Given the description of an element on the screen output the (x, y) to click on. 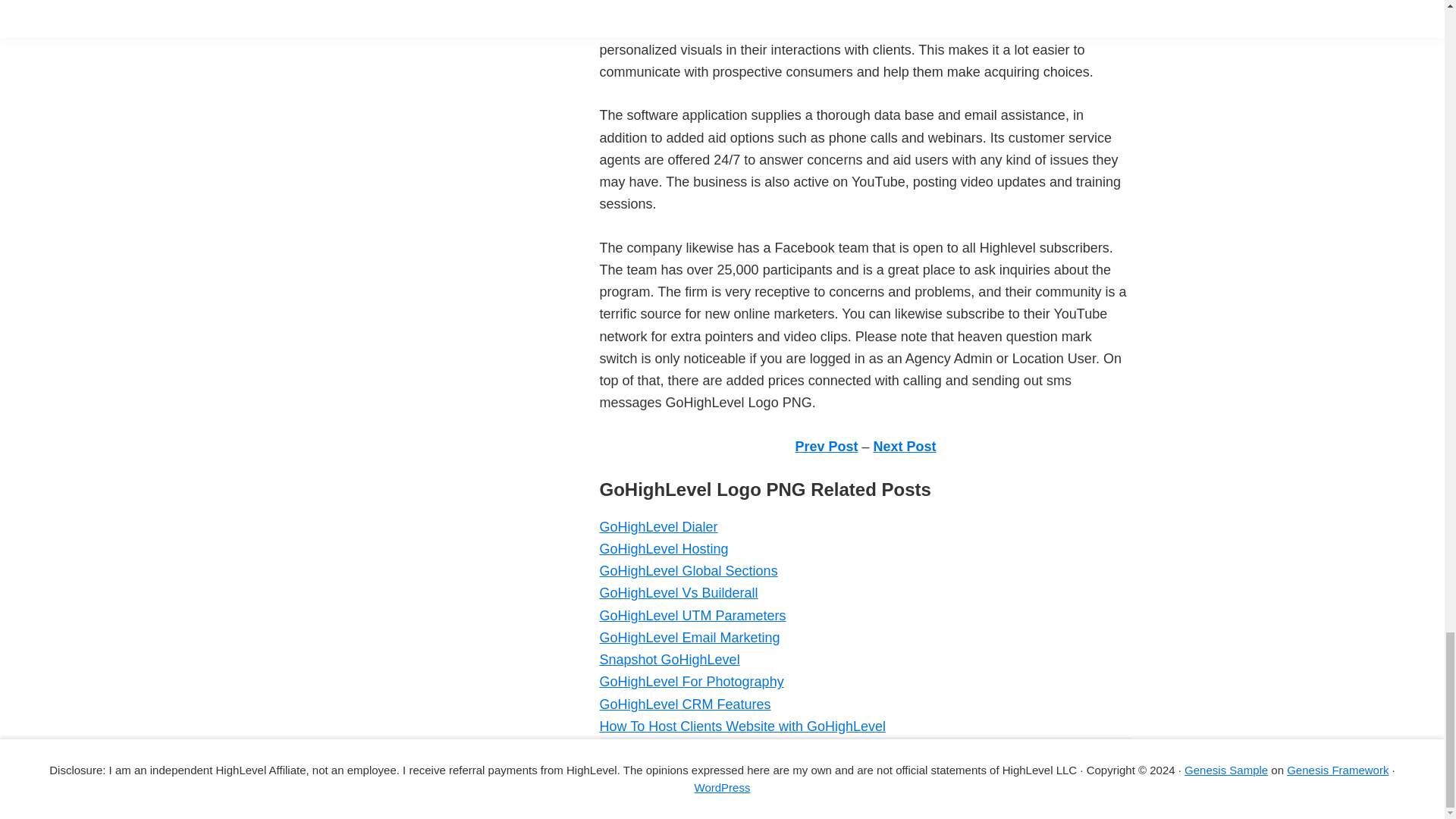
Prev Post (825, 446)
GoHighLevel Email Marketing (688, 637)
How To Host Clients Website with GoHighLevel (741, 726)
GoHighLevel Email Marketing (688, 637)
GoHighLevel UTM Parameters (692, 615)
Snapshot GoHighLevel (668, 659)
GoHighLevel UTM Parameters (692, 615)
Snapshot GoHighLevel (668, 659)
GoHighLevel Dialer (657, 526)
How To Host Clients Website with GoHighLevel (741, 726)
